Given the description of an element on the screen output the (x, y) to click on. 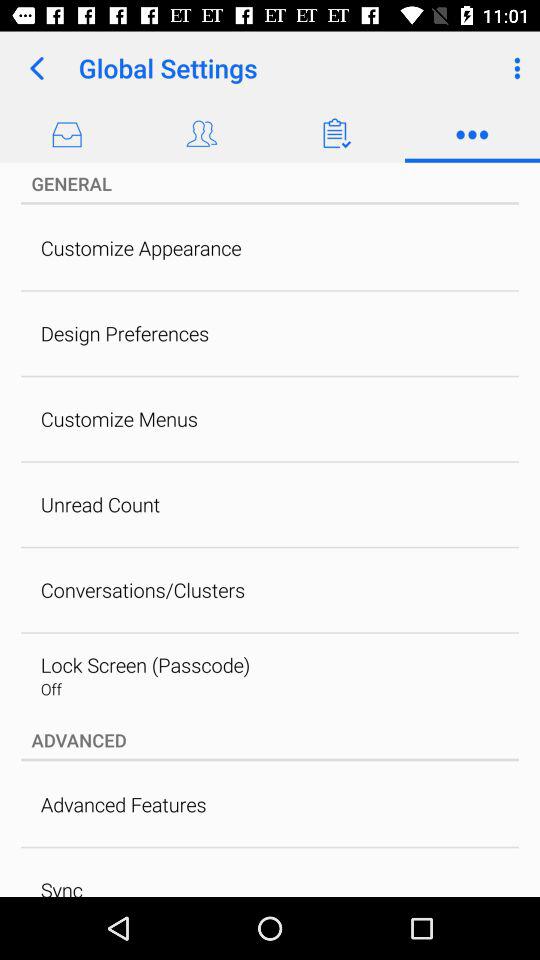
swipe to the customize appearance item (140, 247)
